Given the description of an element on the screen output the (x, y) to click on. 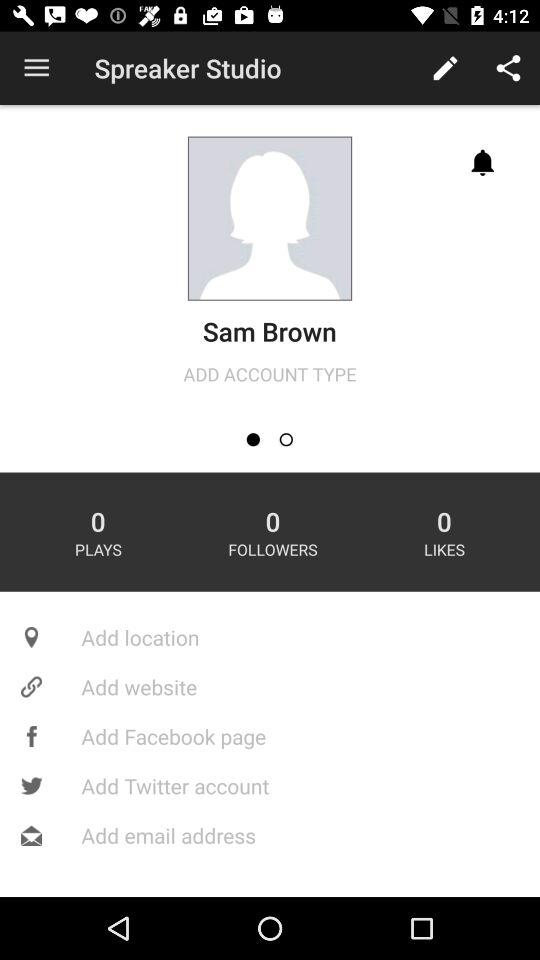
tap the icon below the add website item (270, 736)
